Given the description of an element on the screen output the (x, y) to click on. 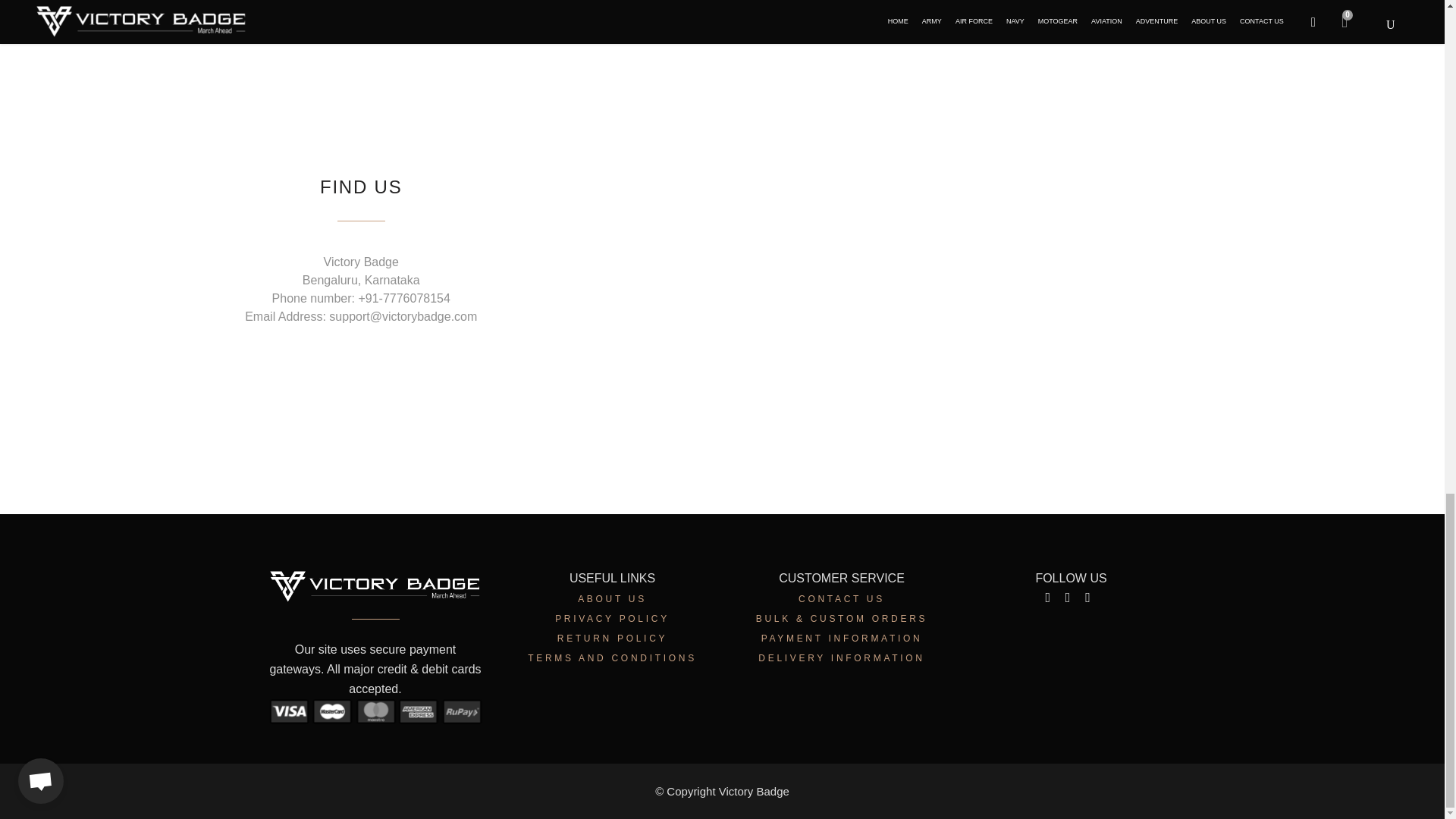
RETURN POLICY (611, 638)
CONTACT US (841, 598)
PRIVACY POLICY (611, 618)
TERMS AND CONDITIONS (612, 657)
PAYMENT INFORMATION (842, 638)
ABOUT US (612, 598)
